Given the description of an element on the screen output the (x, y) to click on. 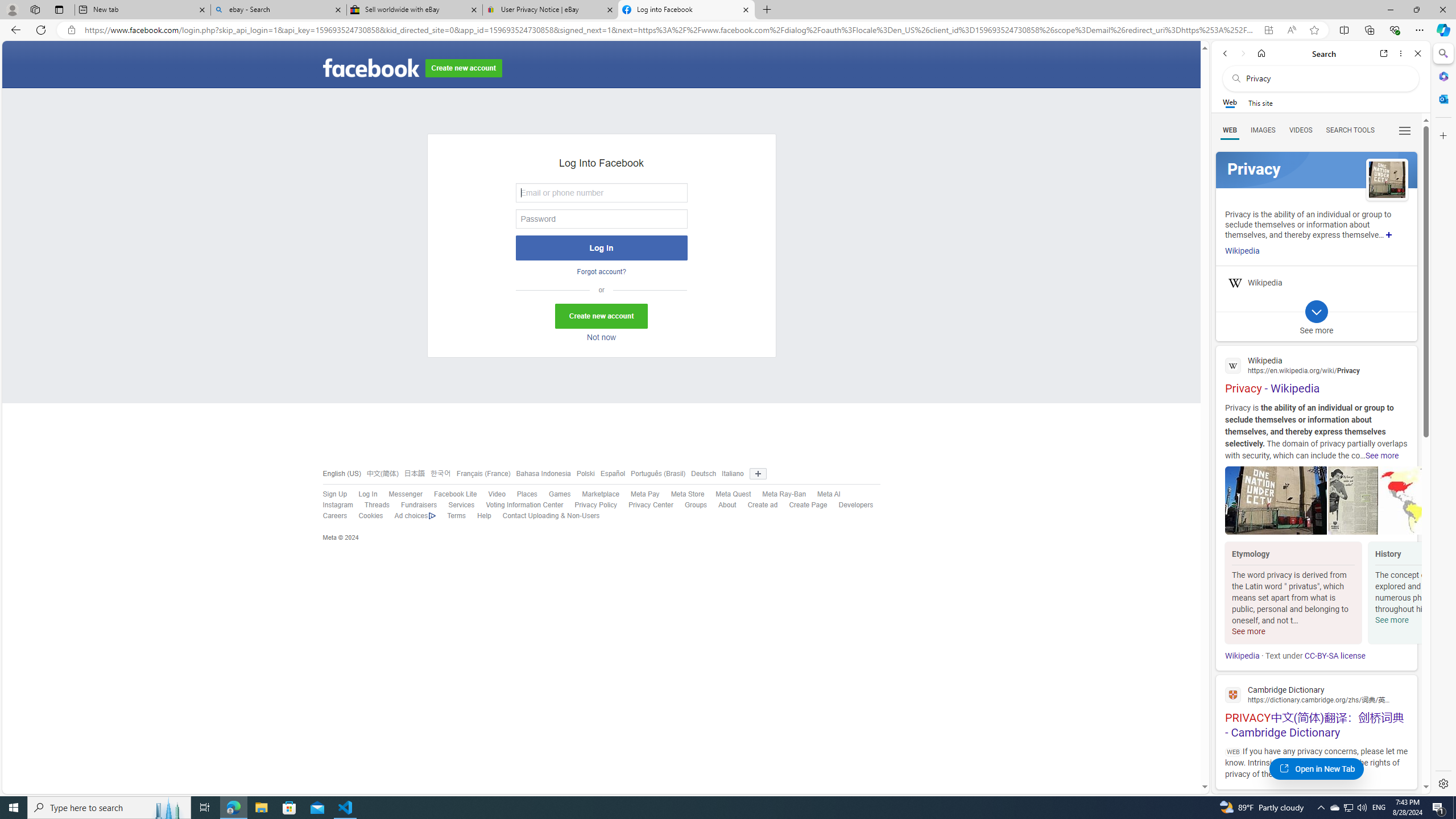
Polski (582, 473)
Ad choices (415, 516)
Wikipedia (1241, 655)
Side bar (1443, 418)
About (721, 505)
Meta Pay (638, 494)
Voting Information Center (524, 505)
Sign Up (329, 494)
Meta Quest (732, 493)
Fundraisers (412, 505)
Create ad (761, 505)
